Given the description of an element on the screen output the (x, y) to click on. 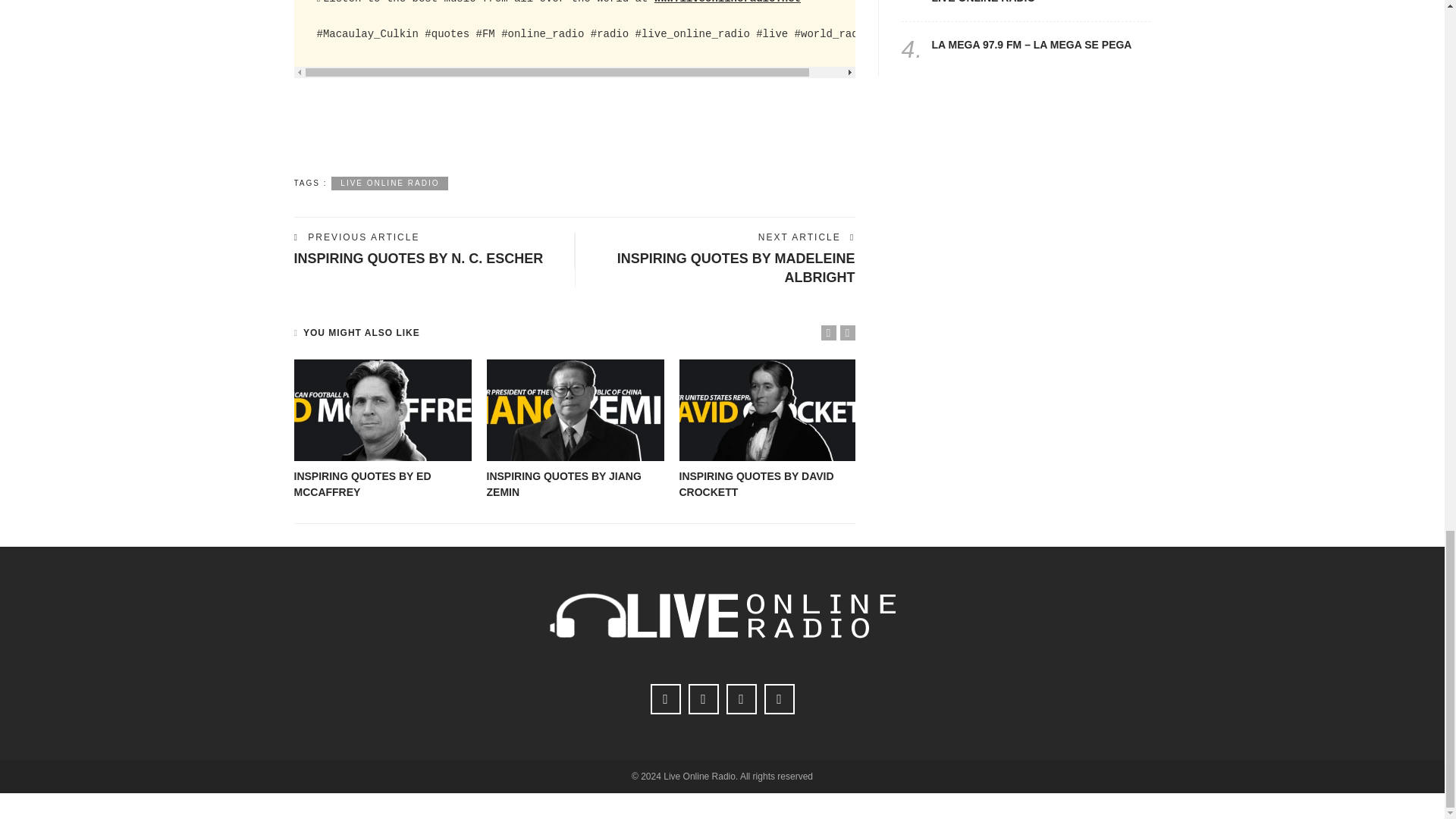
INSPIRING QUOTES BY MADELEINE ALBRIGHT (736, 267)
Inspiring quotes by Jiang Zemin (564, 483)
Inspiring quotes by Ed McCaffrey (382, 410)
INSPIRING QUOTES BY ED MCCAFFREY (362, 483)
inspiring quotes by madeleine albright (736, 267)
LIVE ONLINE RADIO (389, 183)
Inspiring quotes by David Crockett (756, 483)
Live Online Radio (389, 183)
Inspiring quotes by David Crockett (768, 410)
INSPIRING QUOTES BY DAVID CROCKETT (756, 483)
